Given the description of an element on the screen output the (x, y) to click on. 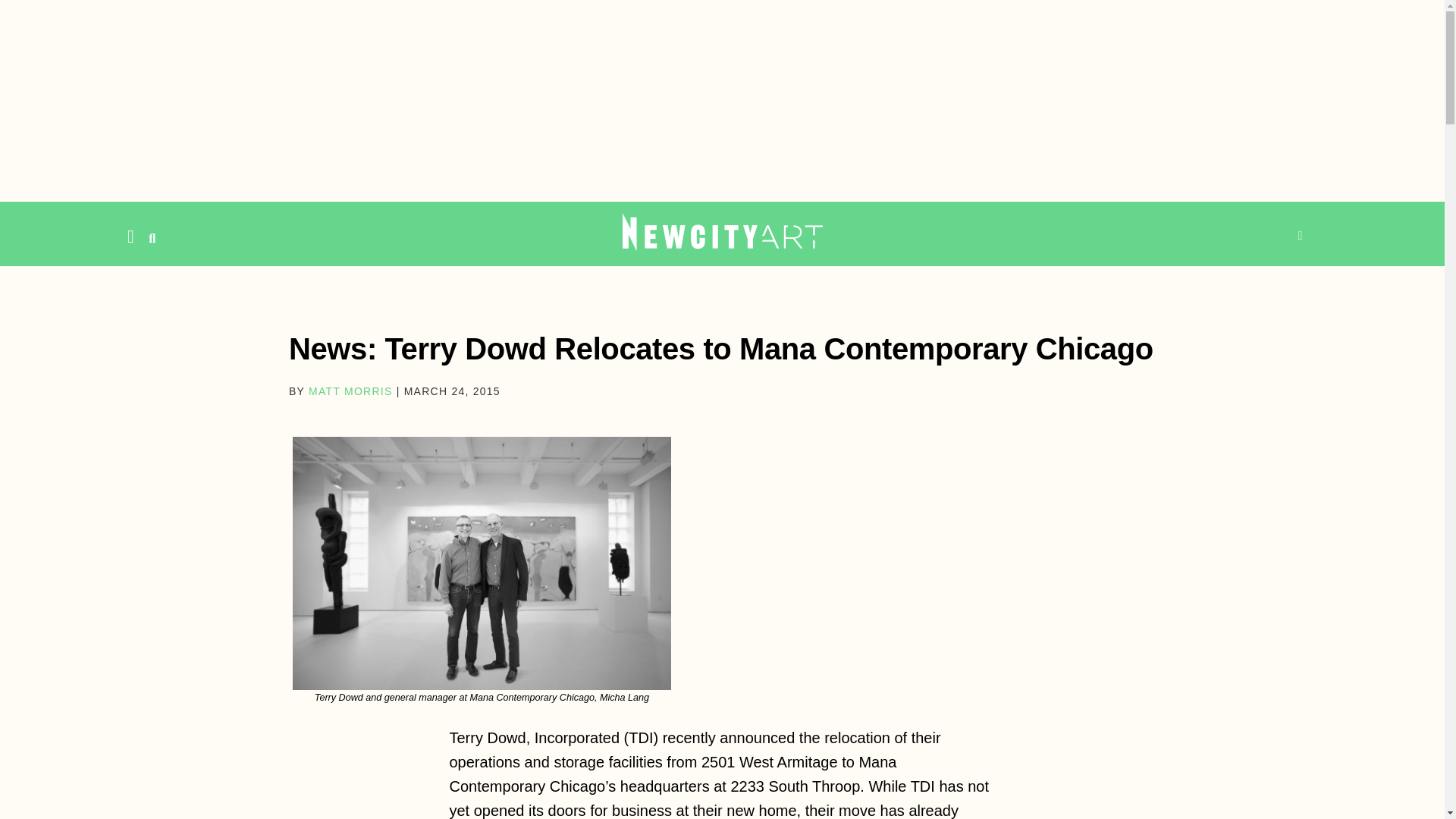
NewcityArt (721, 231)
MATT MORRIS (349, 390)
